Given the description of an element on the screen output the (x, y) to click on. 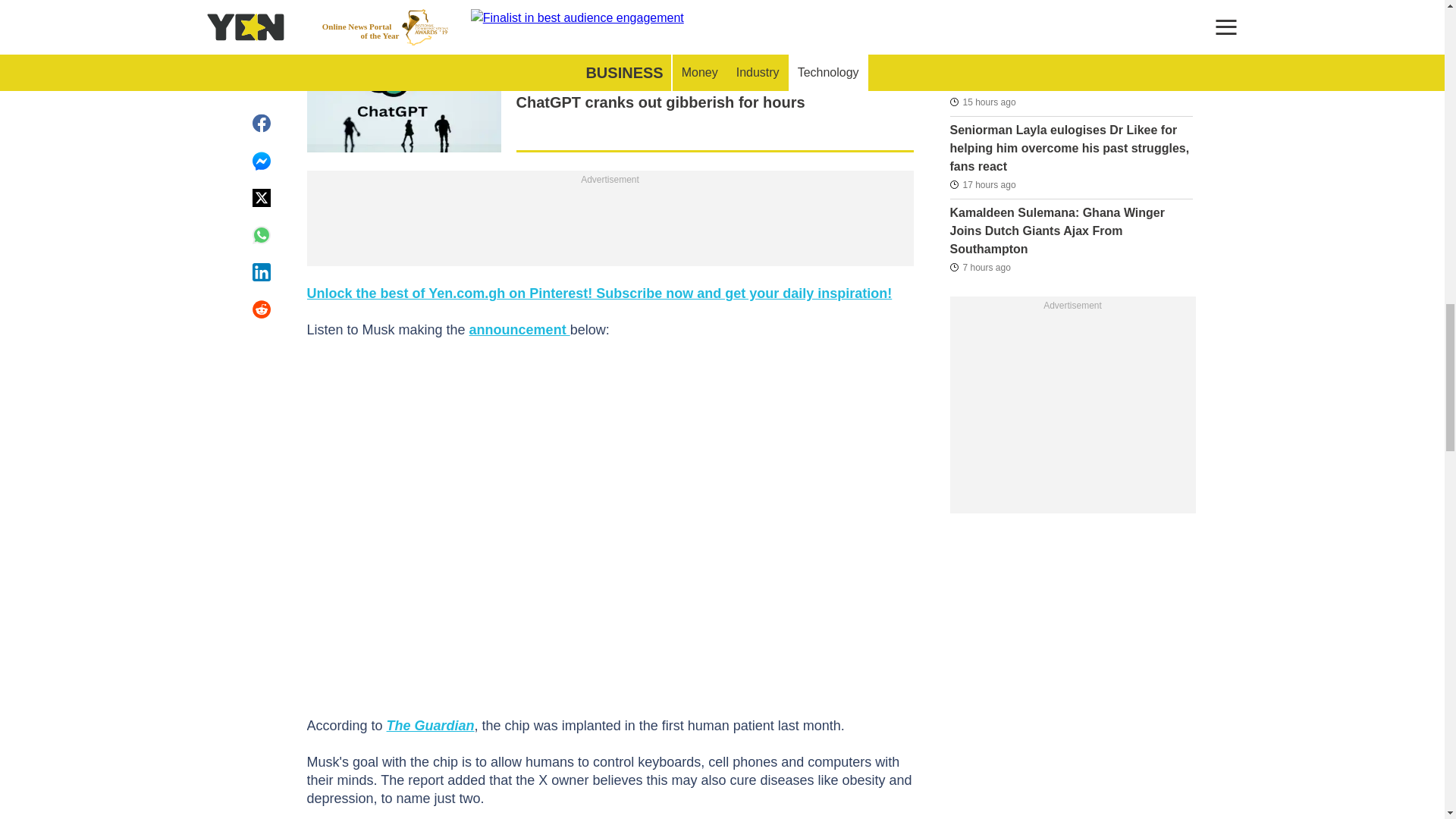
2024-09-02T12:00:49Z (981, 185)
2024-09-02T14:10:46Z (981, 19)
2024-09-02T13:49:18Z (981, 101)
